Given the description of an element on the screen output the (x, y) to click on. 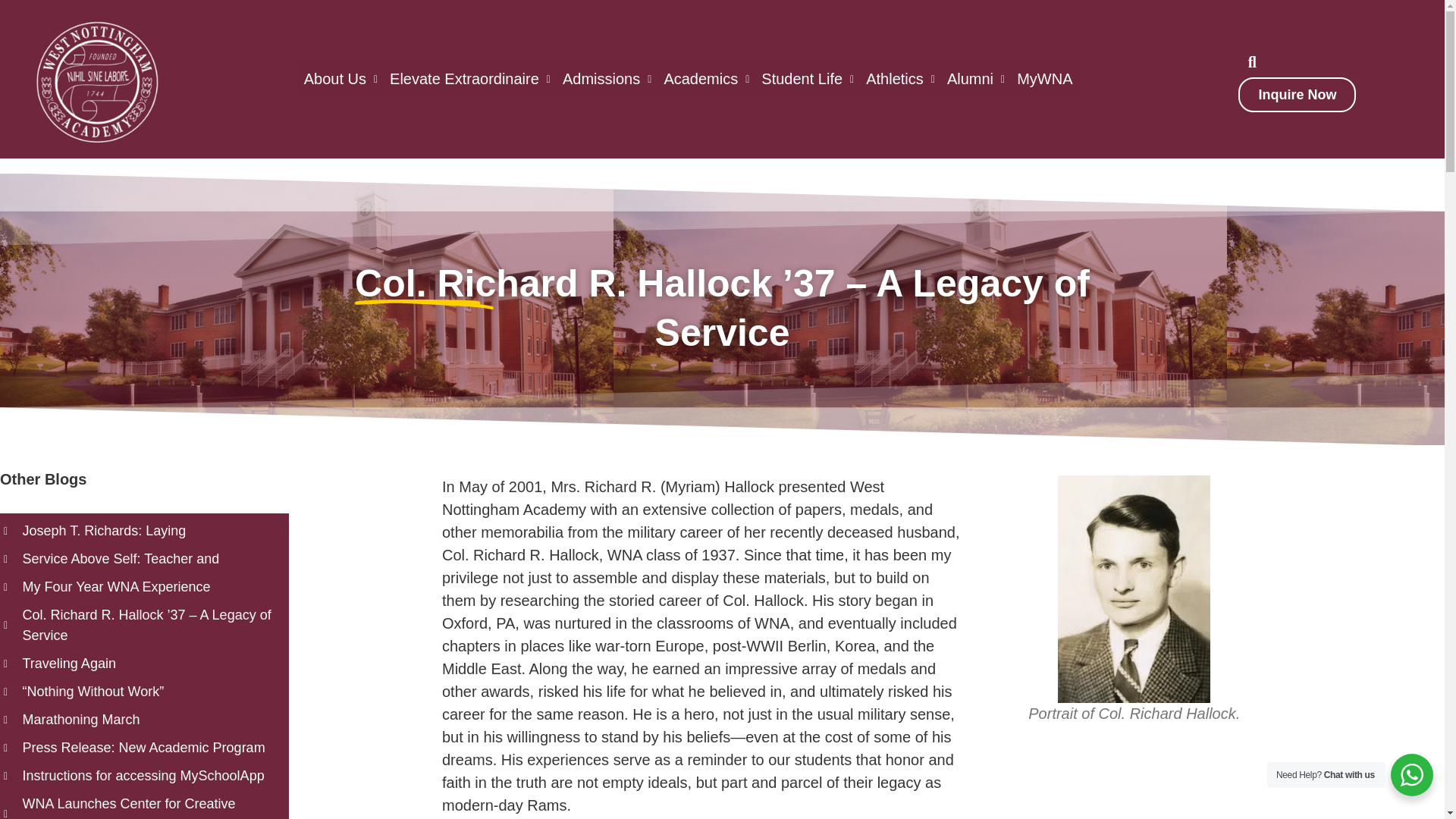
Elevate Extraordinaire (470, 78)
Search (1244, 60)
About Us (341, 78)
Academics (706, 78)
Admissions (607, 78)
